Given the description of an element on the screen output the (x, y) to click on. 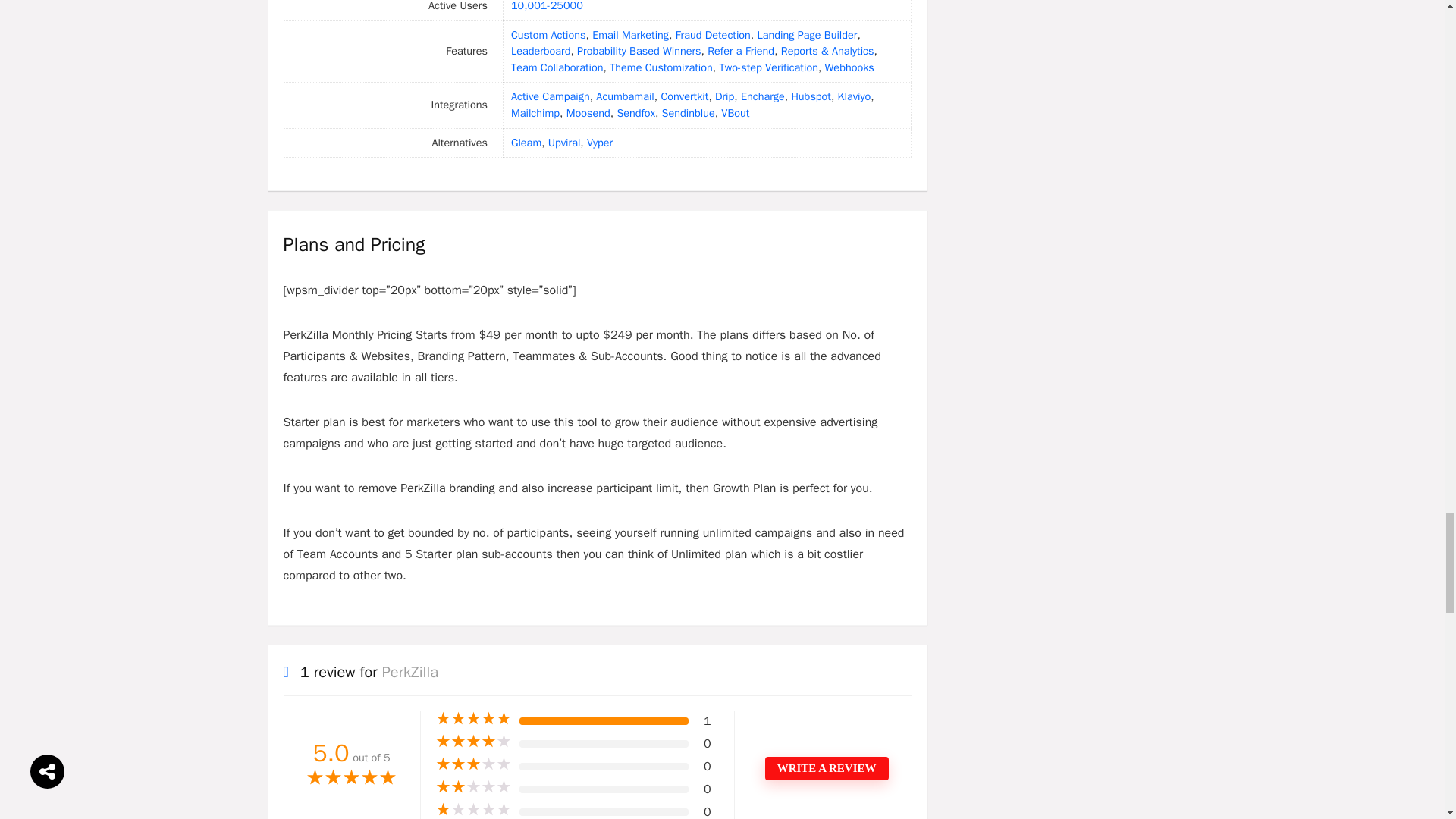
WRITE A REVIEW (826, 768)
